Given the description of an element on the screen output the (x, y) to click on. 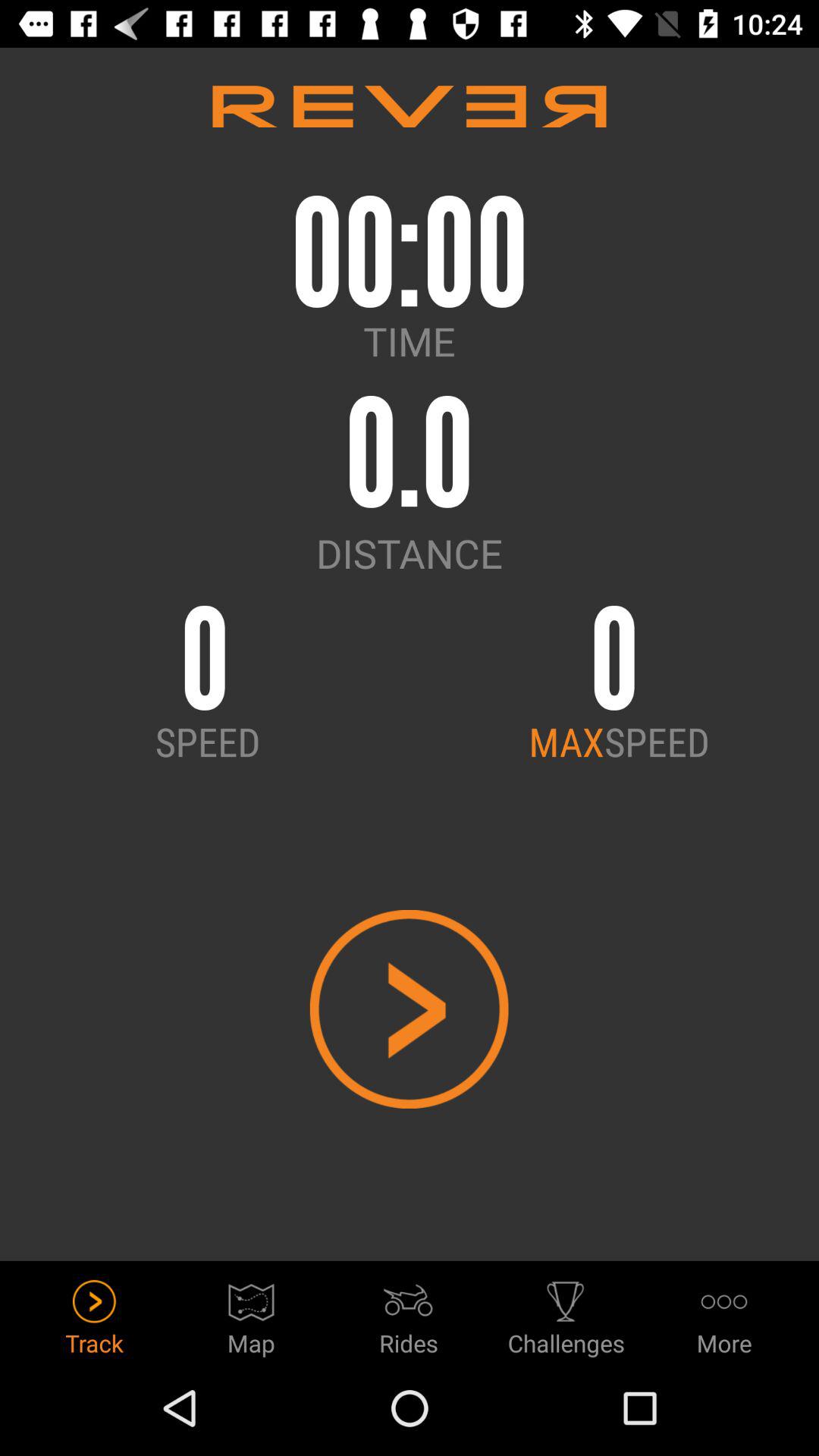
turn on item to the right of track (251, 1313)
